Given the description of an element on the screen output the (x, y) to click on. 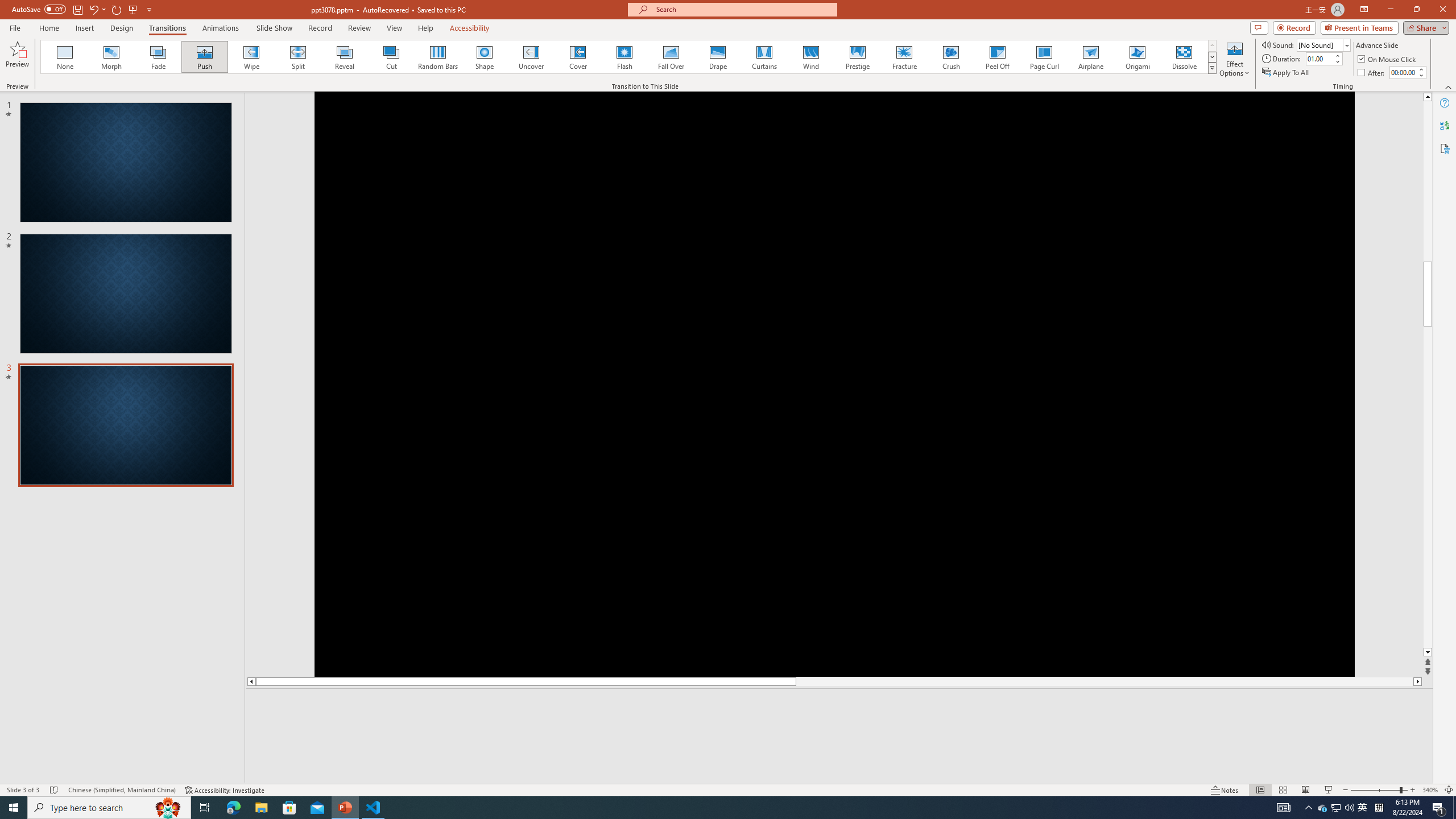
Fall Over (670, 56)
Less (1420, 75)
Airplane (1090, 56)
Page up (1427, 261)
Preview (17, 58)
On Mouse Click (1387, 58)
